Given the description of an element on the screen output the (x, y) to click on. 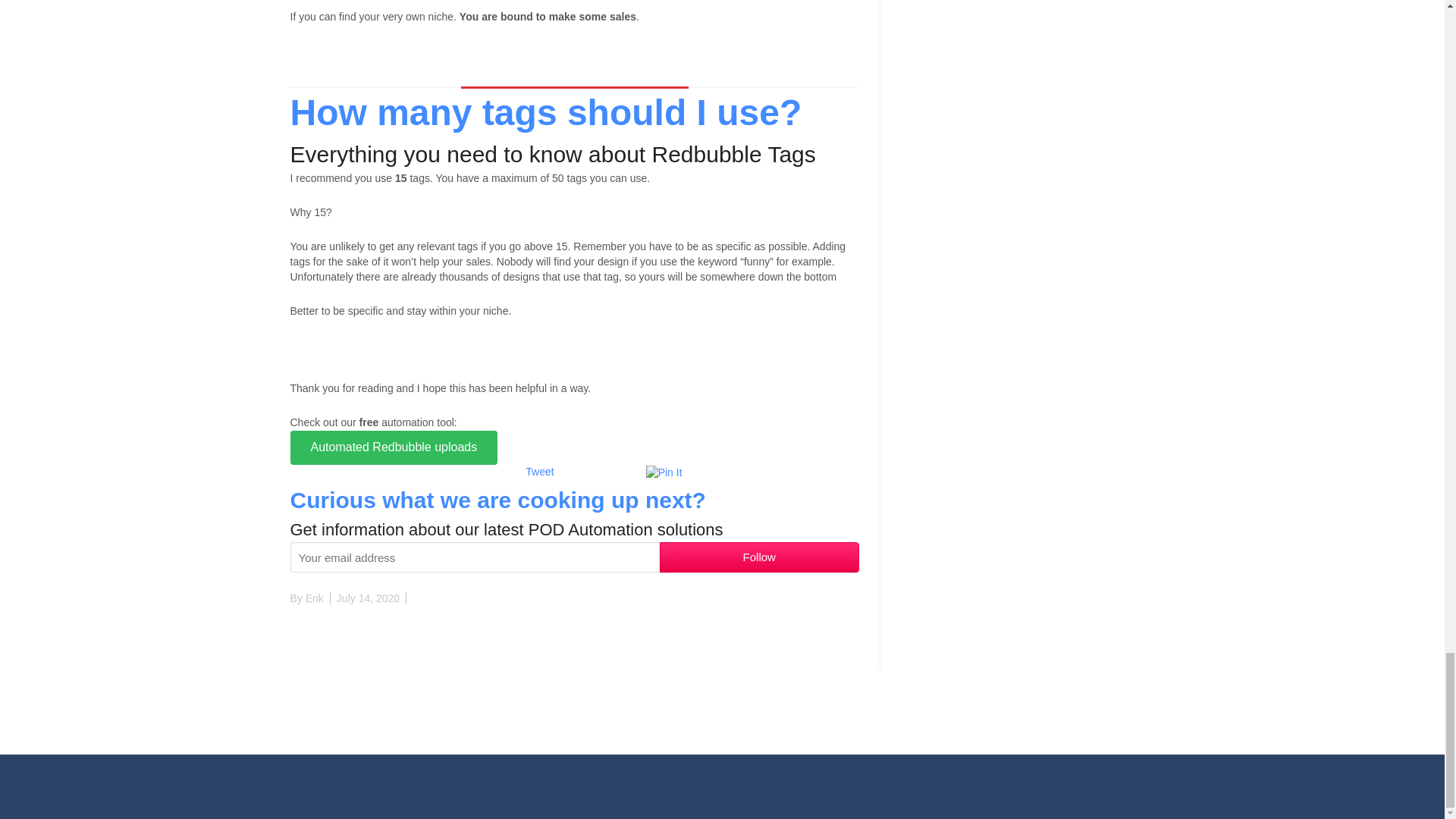
Tweet (539, 471)
Erik (314, 598)
July 14, 2020 (368, 598)
Pin It (664, 473)
Landing Page (393, 447)
Follow (759, 557)
Automated Redbubble uploads (393, 447)
